Given the description of an element on the screen output the (x, y) to click on. 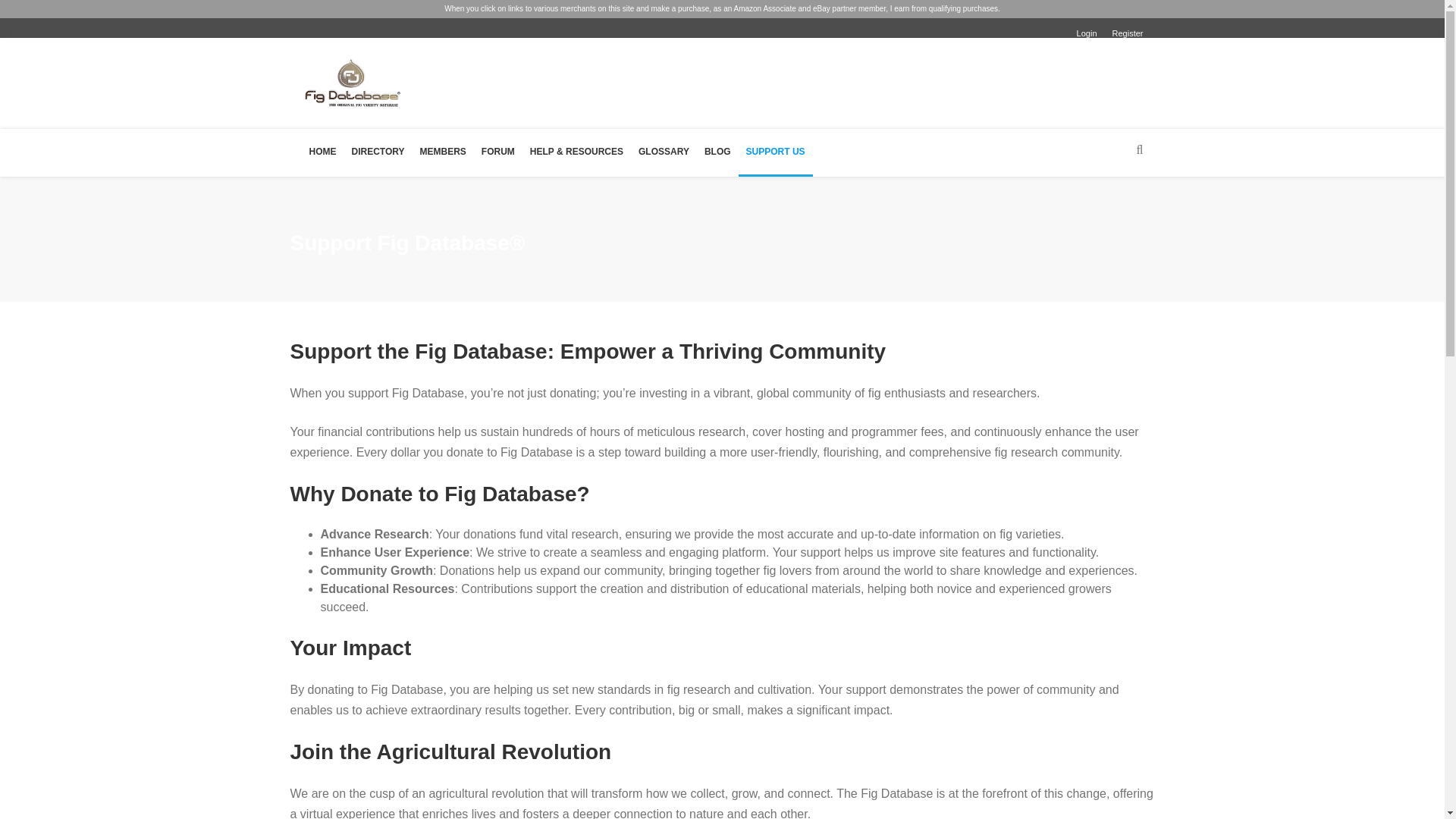
MEMBERS (443, 151)
HOME (322, 151)
My Profile (1267, 123)
Login (1087, 32)
LOGIN (1265, 33)
Register (1127, 32)
Directory (1264, 145)
GLOSSARY (663, 151)
FORUM (498, 151)
BLOG (717, 151)
